Given the description of an element on the screen output the (x, y) to click on. 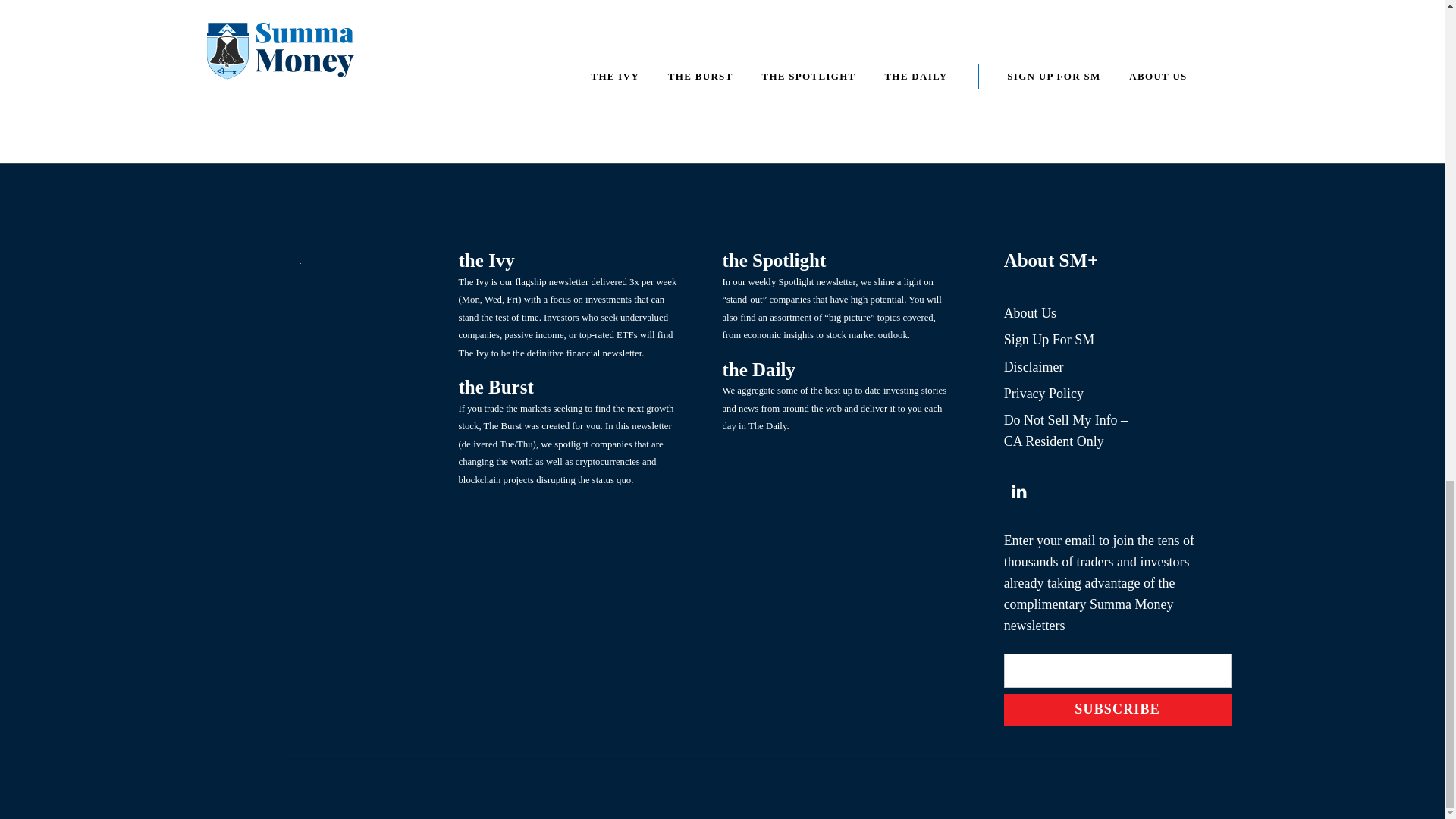
About Us (1030, 313)
the Ivy (485, 260)
the Spotlight (773, 260)
Sign Up For SM (1049, 339)
Privacy Policy (1044, 393)
SUBSCRIBE (1117, 709)
Disclaimer (1034, 366)
the Burst (495, 386)
the Daily (758, 369)
